Given the description of an element on the screen output the (x, y) to click on. 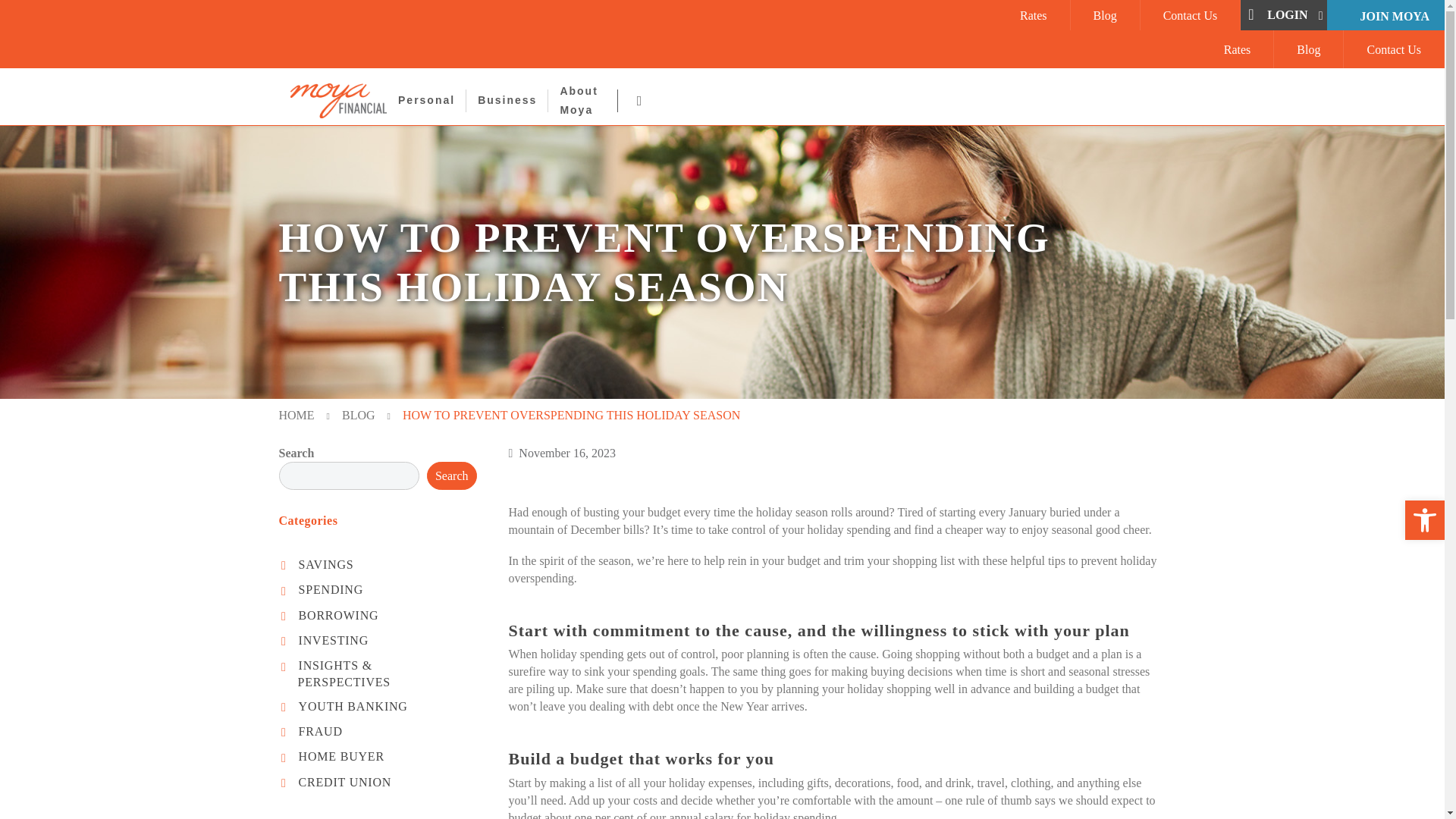
Business (506, 100)
Contact Us (1394, 49)
Rates (1033, 14)
Accessibility Tools (1424, 519)
Blog (1104, 14)
Contact Us (1190, 14)
Rates (1308, 49)
JOIN MOYA (1385, 16)
Blog (1104, 14)
Rates (1033, 14)
Rates (1237, 49)
Become a Member (1385, 16)
Contact Us (1190, 14)
Personal (426, 100)
Contact Us (1394, 49)
